Given the description of an element on the screen output the (x, y) to click on. 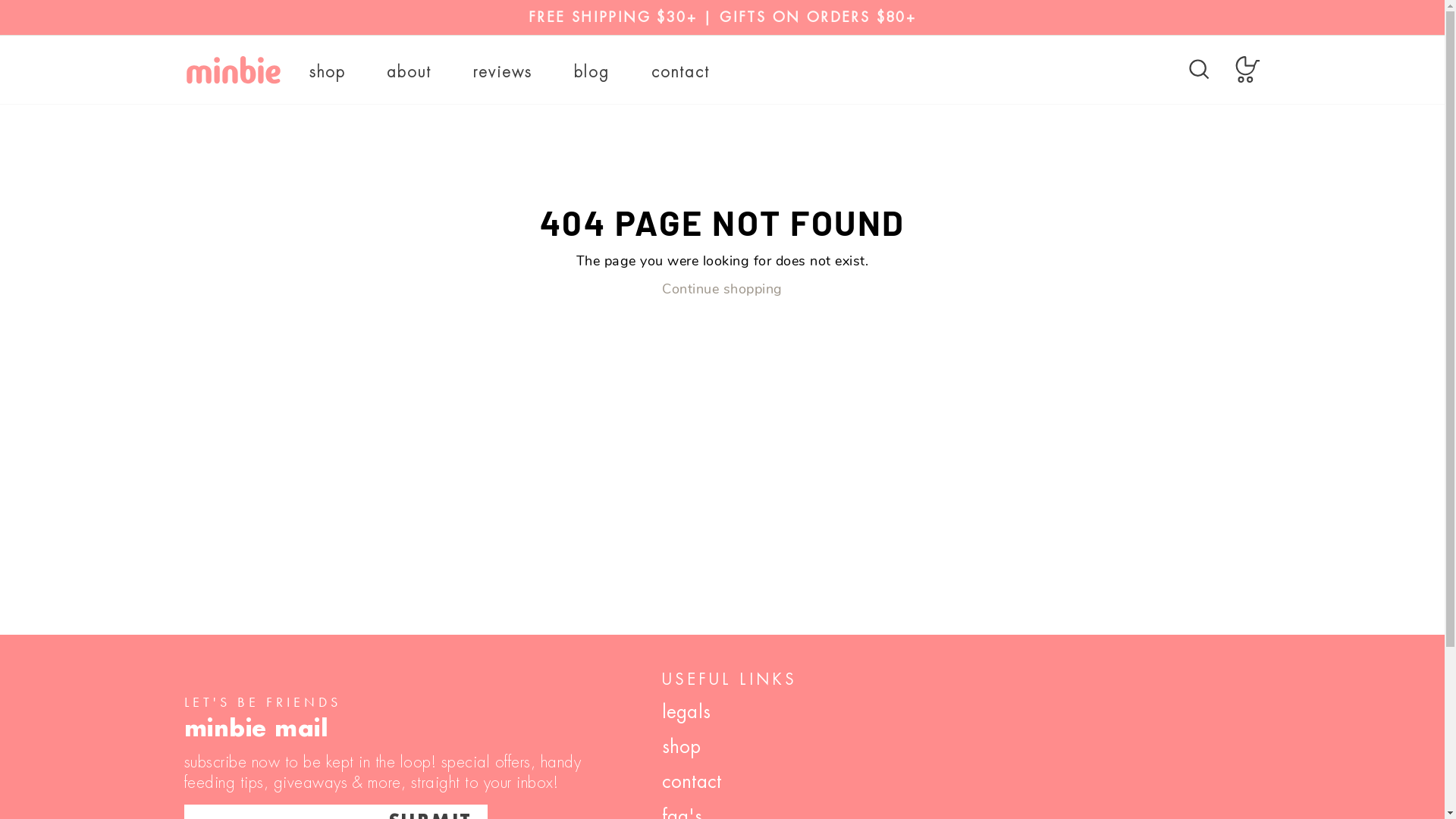
legals Element type: text (686, 710)
Continue shopping Element type: text (722, 289)
cart Element type: text (1247, 69)
search Element type: text (1198, 69)
reviews Element type: text (502, 72)
shop Element type: text (681, 745)
contact Element type: text (680, 72)
contact Element type: text (691, 779)
shop Element type: text (326, 72)
about Element type: text (408, 72)
blog Element type: text (591, 72)
Skip to content Element type: text (0, 0)
